Given the description of an element on the screen output the (x, y) to click on. 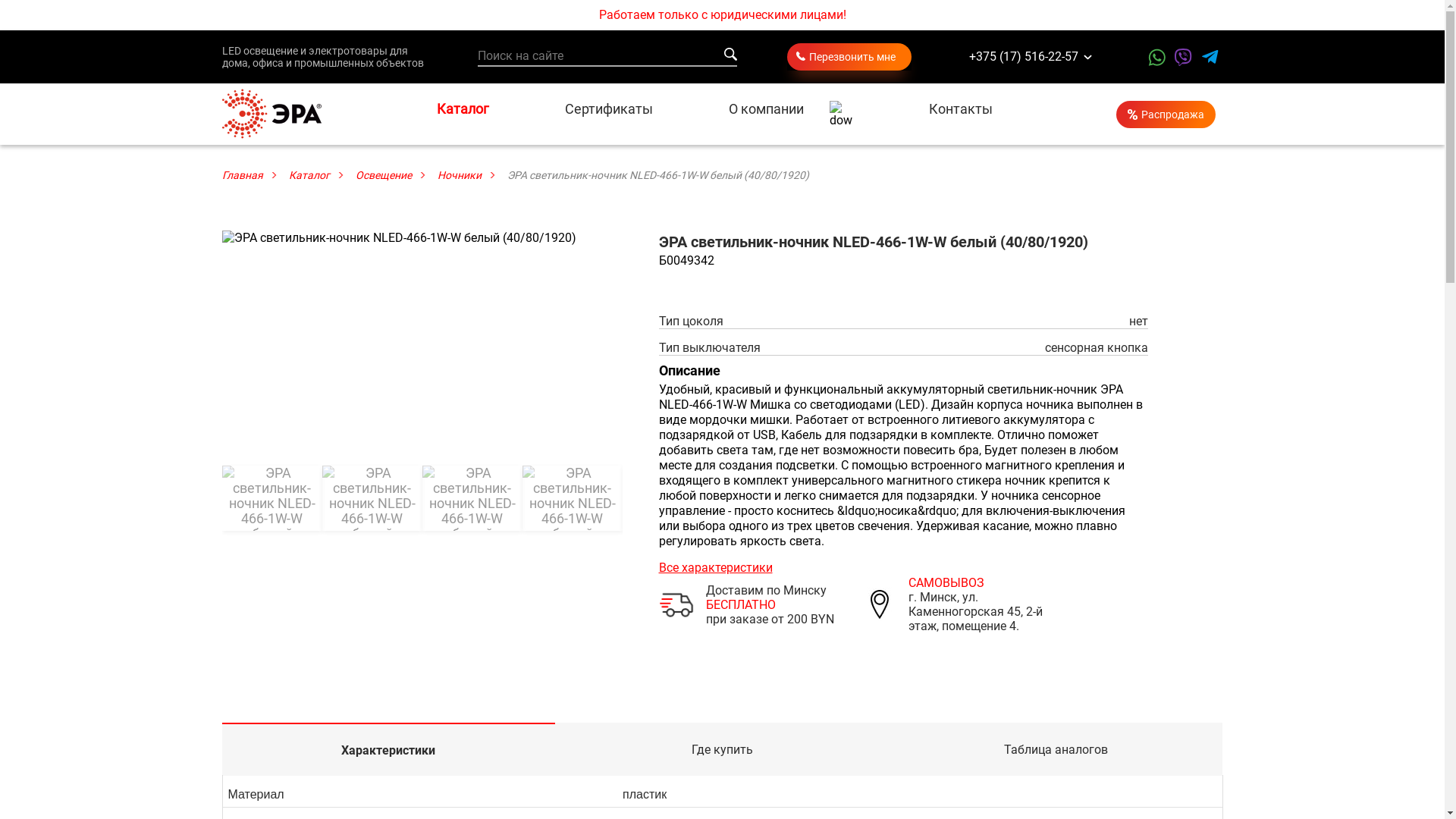
+375 (17) 516-22-57 Element type: text (1019, 57)
